Given the description of an element on the screen output the (x, y) to click on. 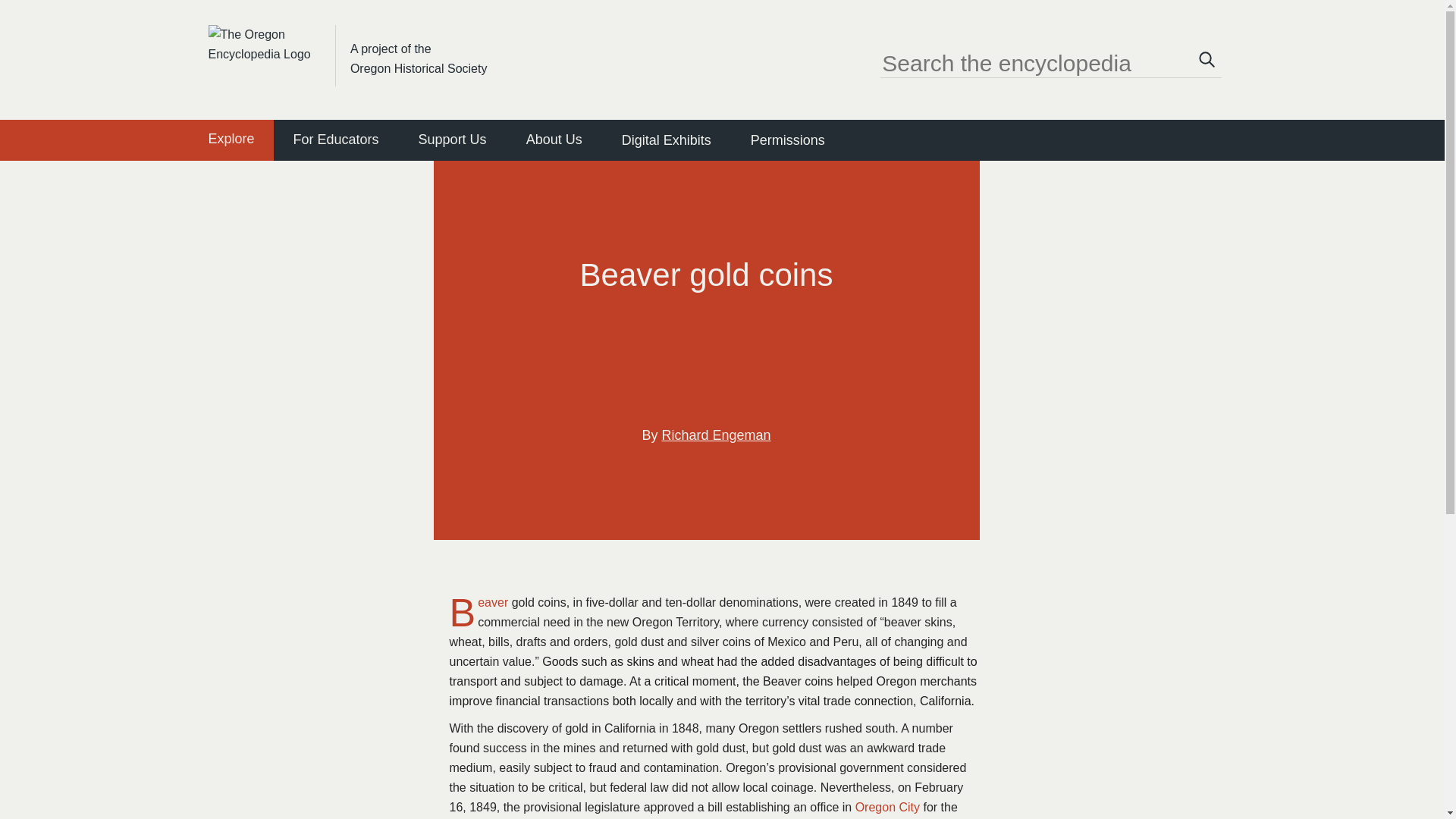
Search (1207, 62)
Support Us (452, 138)
Explore (230, 139)
Permissions (788, 139)
About Us (553, 138)
Digital Exhibits (666, 139)
For Educators (336, 138)
The Oregon Encyclopedia (264, 42)
